Given the description of an element on the screen output the (x, y) to click on. 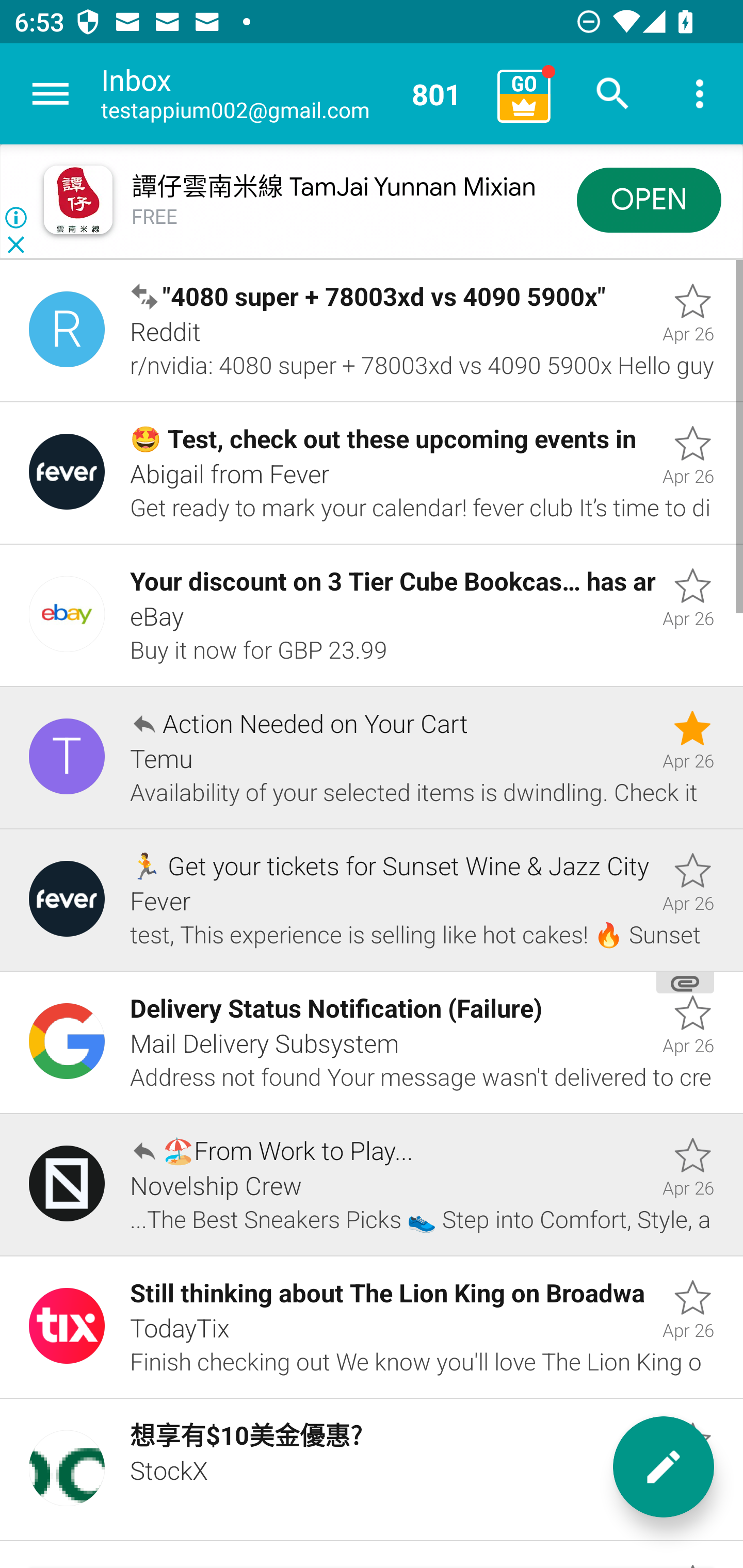
Navigate up (50, 93)
Inbox testappium002@gmail.com 801 (291, 93)
Search (612, 93)
More options (699, 93)
OPEN (648, 199)
譚仔雲南米線 TamJai Yunnan Mixian (333, 186)
FREE (154, 216)
Unread, 想享有$10美金優惠?, StockX, Apr 26 (371, 1469)
New message (663, 1466)
